Given the description of an element on the screen output the (x, y) to click on. 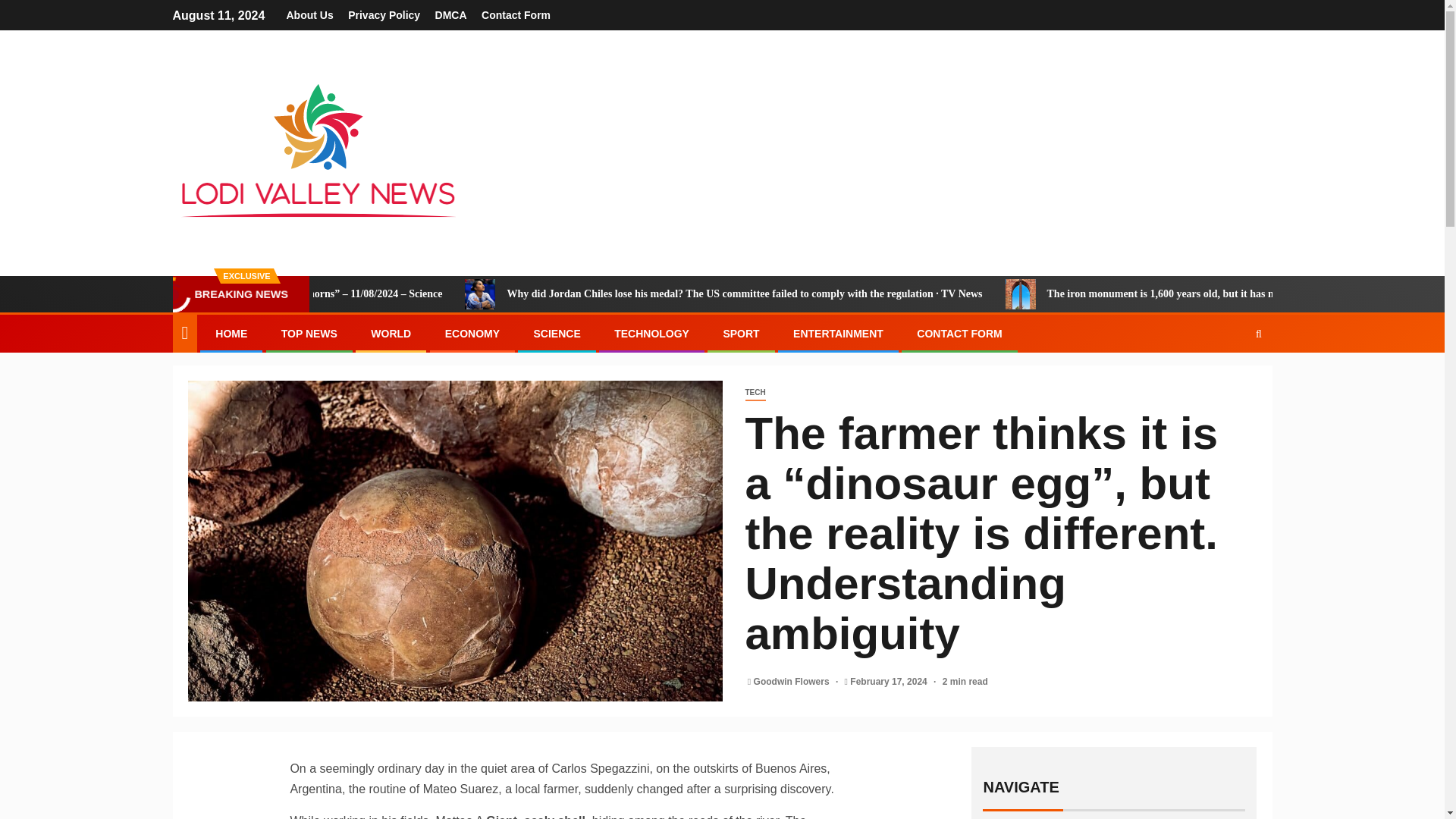
HOME (231, 333)
TECHNOLOGY (651, 333)
TOP NEWS (309, 333)
CONTACT FORM (960, 333)
WORLD (390, 333)
Privacy Policy (383, 15)
Contact Form (515, 15)
DMCA (451, 15)
SCIENCE (555, 333)
SPORT (740, 333)
